Given the description of an element on the screen output the (x, y) to click on. 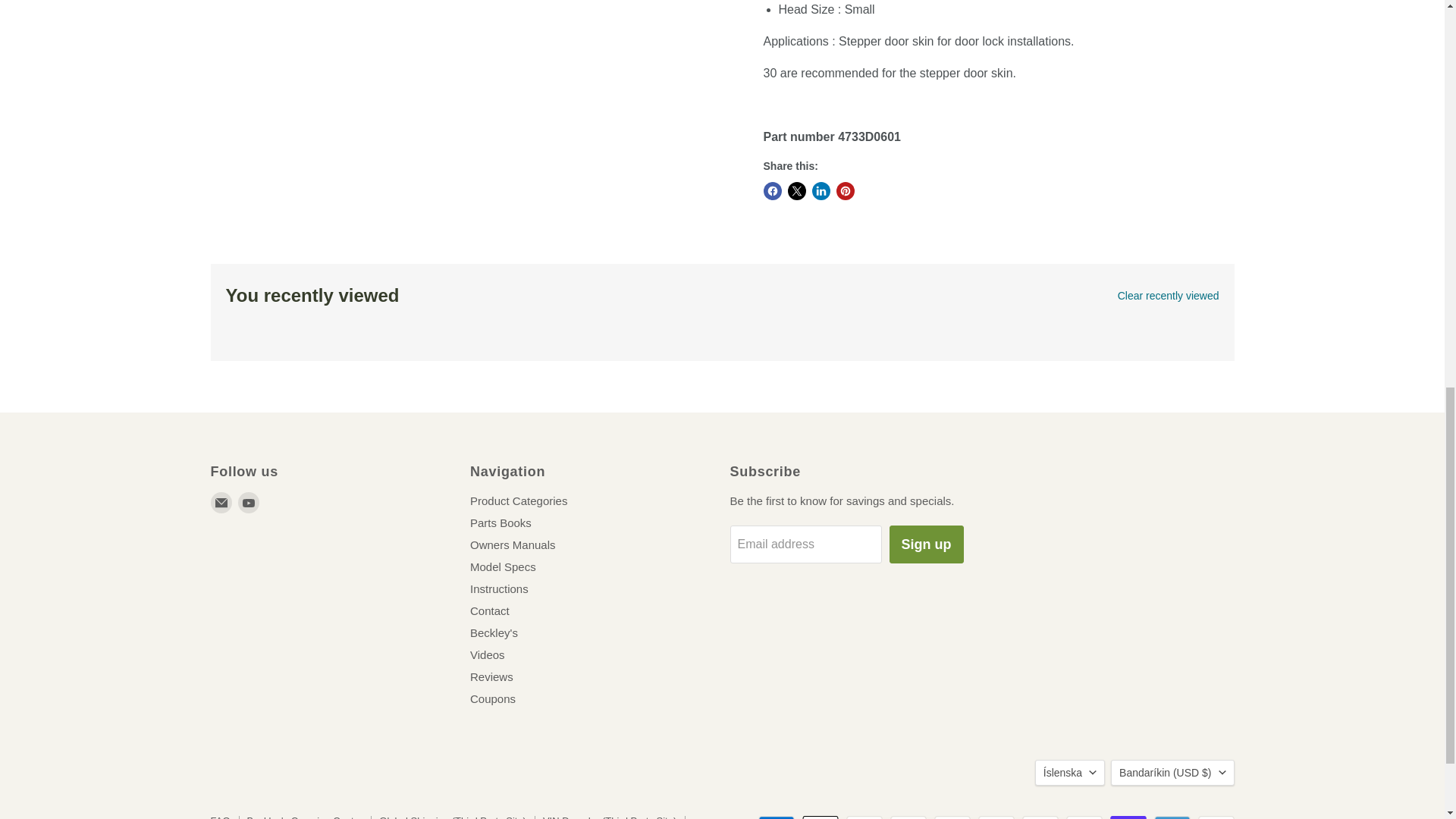
Diners Club (863, 817)
American Express (776, 817)
Apple Pay (820, 817)
YouTube (248, 502)
Email (221, 502)
